Given the description of an element on the screen output the (x, y) to click on. 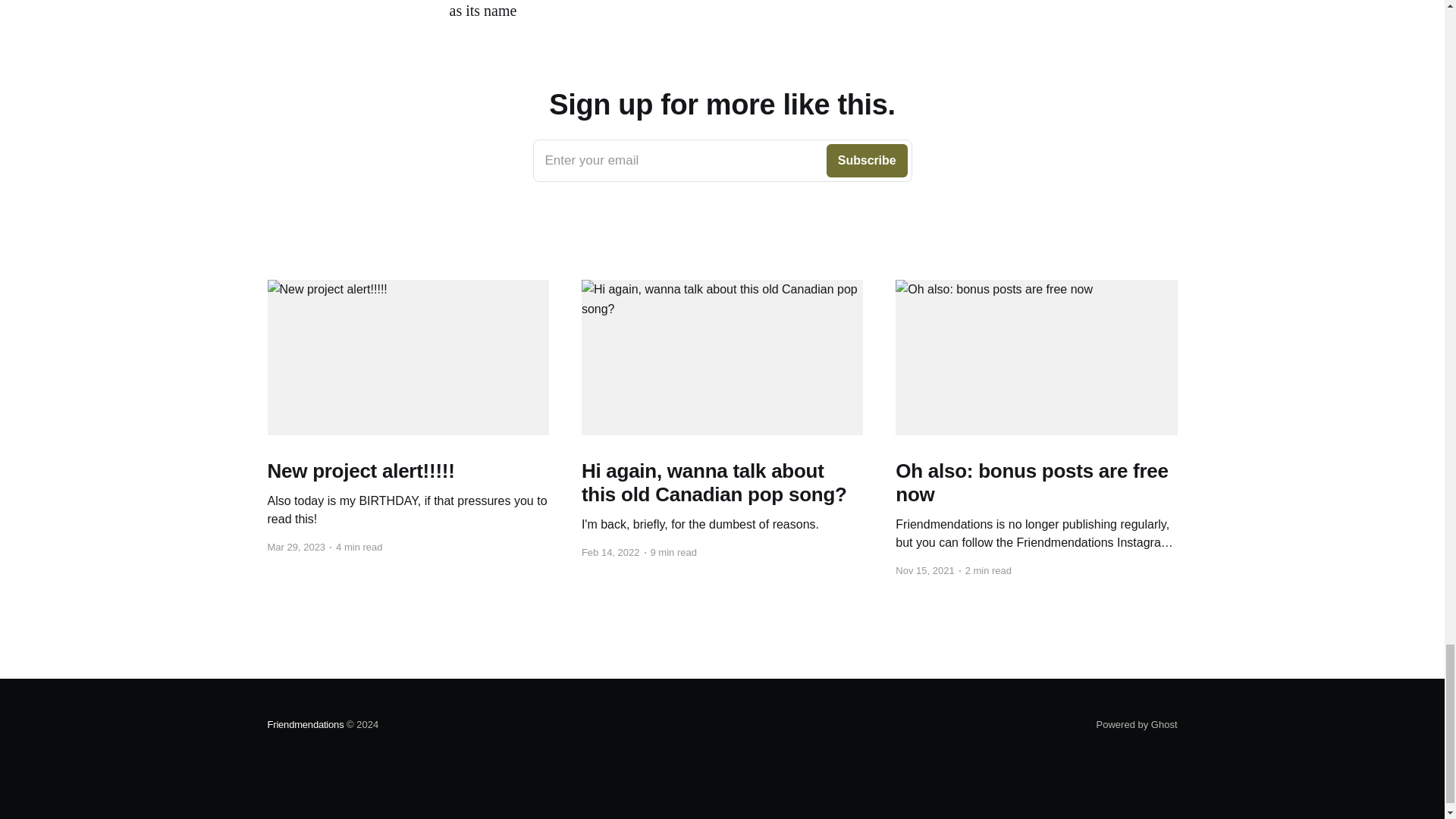
Friendmendations (721, 160)
Powered by Ghost (304, 724)
